Given the description of an element on the screen output the (x, y) to click on. 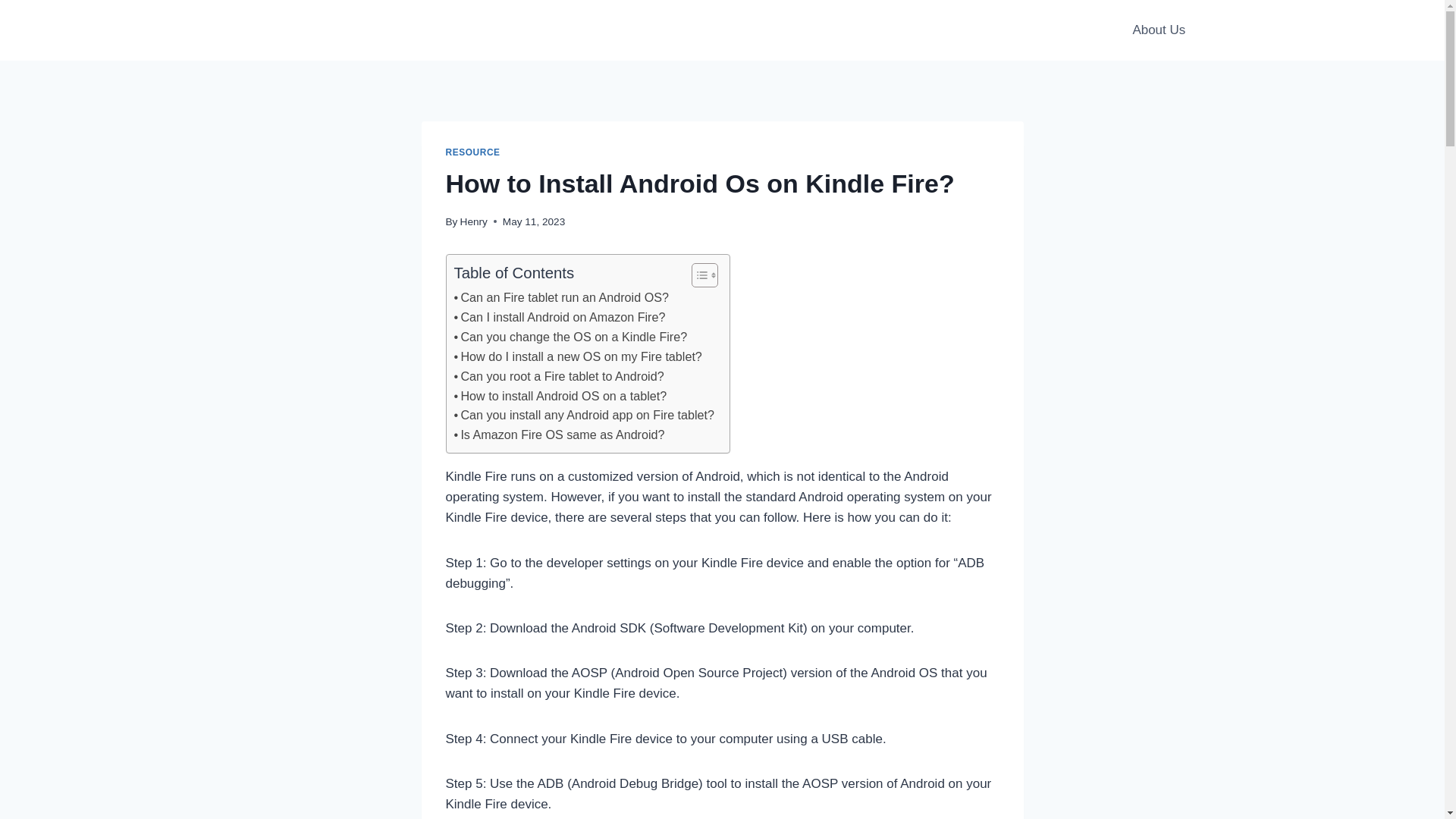
Henry (473, 221)
Can you root a Fire tablet to Android? (557, 376)
RESOURCE (472, 152)
About Us (1158, 30)
Can an Fire tablet run an Android OS? (560, 297)
Can I install Android on Amazon Fire? (558, 317)
How to install Android OS on a tablet? (559, 396)
Is Amazon Fire OS same as Android? (557, 435)
Can you install any Android app on Fire tablet? (583, 415)
Can you change the OS on a Kindle Fire? (569, 337)
Can you change the OS on a Kindle Fire? (569, 337)
How do I install a new OS on my Fire tablet? (576, 356)
How to install Android OS on a tablet? (559, 396)
Can you root a Fire tablet to Android? (557, 376)
Can an Fire tablet run an Android OS? (560, 297)
